Given the description of an element on the screen output the (x, y) to click on. 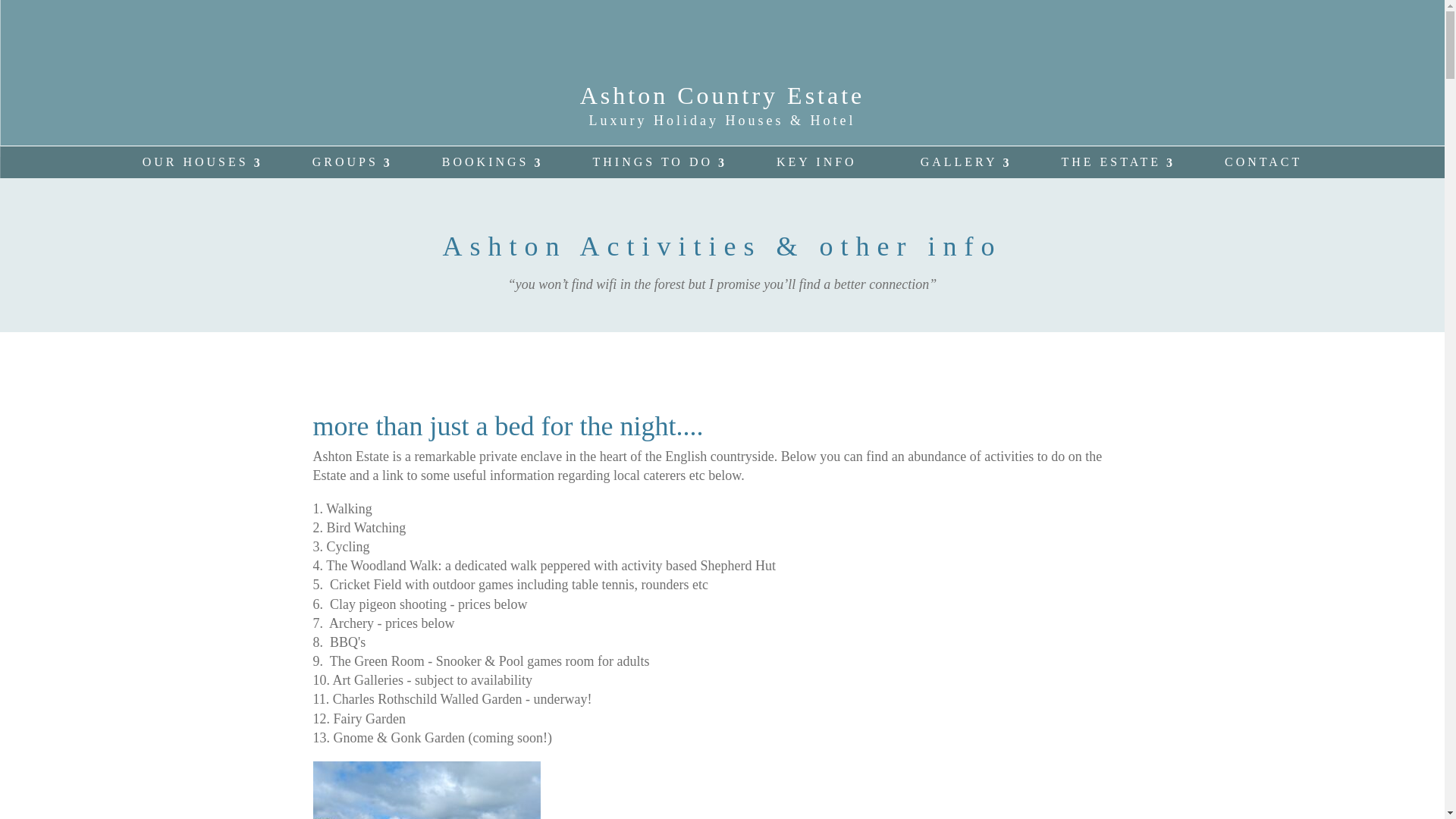
THE ESTATE (1110, 162)
KEY INFO (816, 162)
BOOKINGS (485, 162)
Ashton Country Estate (721, 94)
CONTACT (1263, 162)
THINGS TO DO (652, 162)
OUR HOUSES (195, 162)
GROUPS (344, 162)
GALLERY (959, 162)
